Given the description of an element on the screen output the (x, y) to click on. 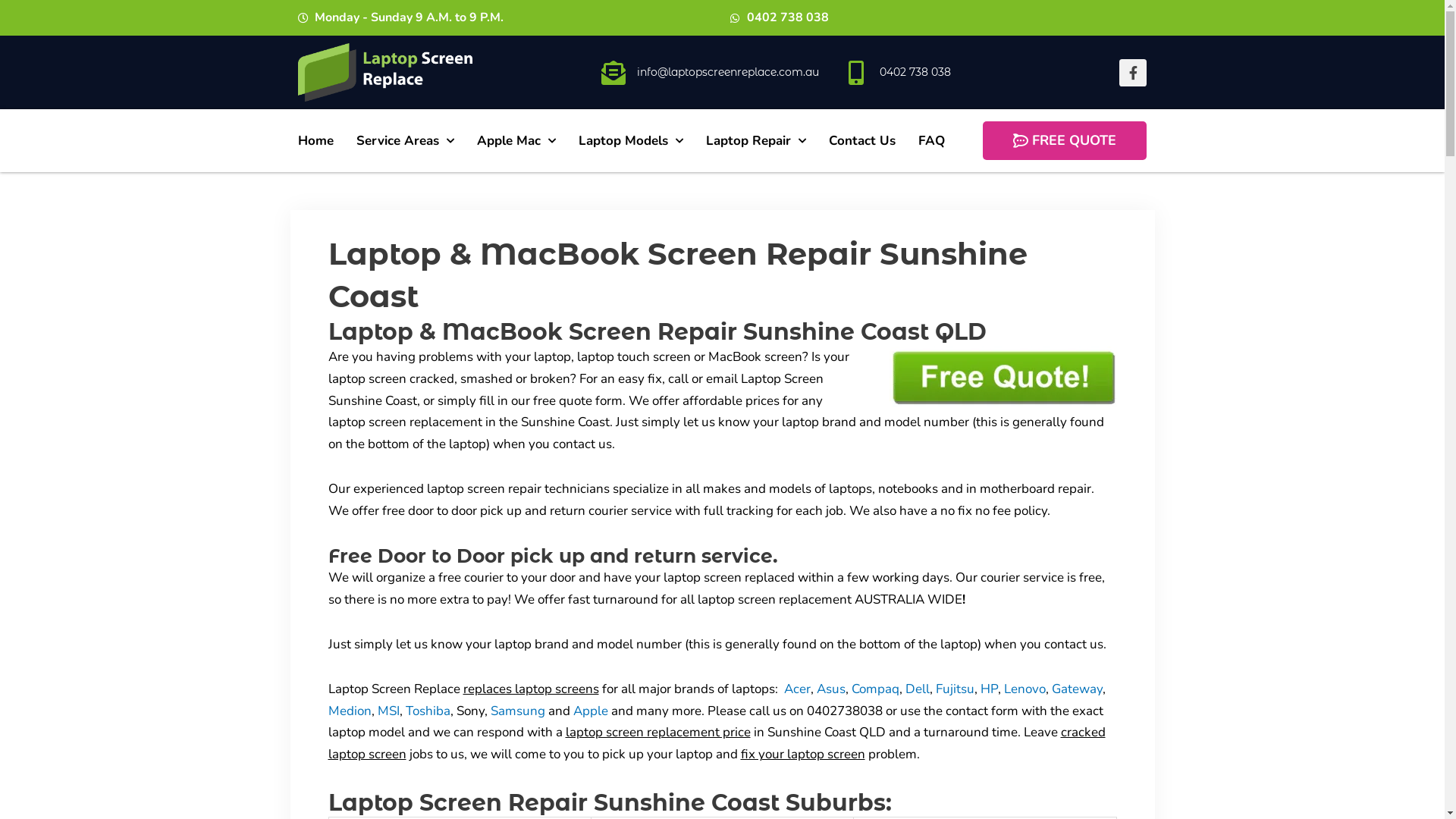
Apple Mac Element type: text (515, 140)
0402 738 038 Element type: text (778, 17)
Service Areas Element type: text (405, 140)
Laptop Repair Element type: text (755, 140)
Apple Element type: text (590, 710)
FREE QUOTE Element type: text (1064, 140)
Acer Element type: text (797, 688)
0402 738 038 Element type: text (914, 71)
Samsung Element type: text (516, 710)
Compaq Element type: text (874, 688)
Contact Us Element type: text (861, 140)
Laptop Models Element type: text (629, 140)
Dell Element type: text (917, 688)
Gateway Element type: text (1076, 688)
Home Element type: text (314, 140)
HP Element type: text (988, 688)
MSI Element type: text (388, 710)
Toshiba Element type: text (426, 710)
Asus Element type: text (829, 688)
Medion Element type: text (348, 710)
Fujitsu Element type: text (954, 688)
Lenovo Element type: text (1024, 688)
info@laptopscreenreplace.com.au Element type: text (728, 71)
FAQ Element type: text (930, 140)
